Given the description of an element on the screen output the (x, y) to click on. 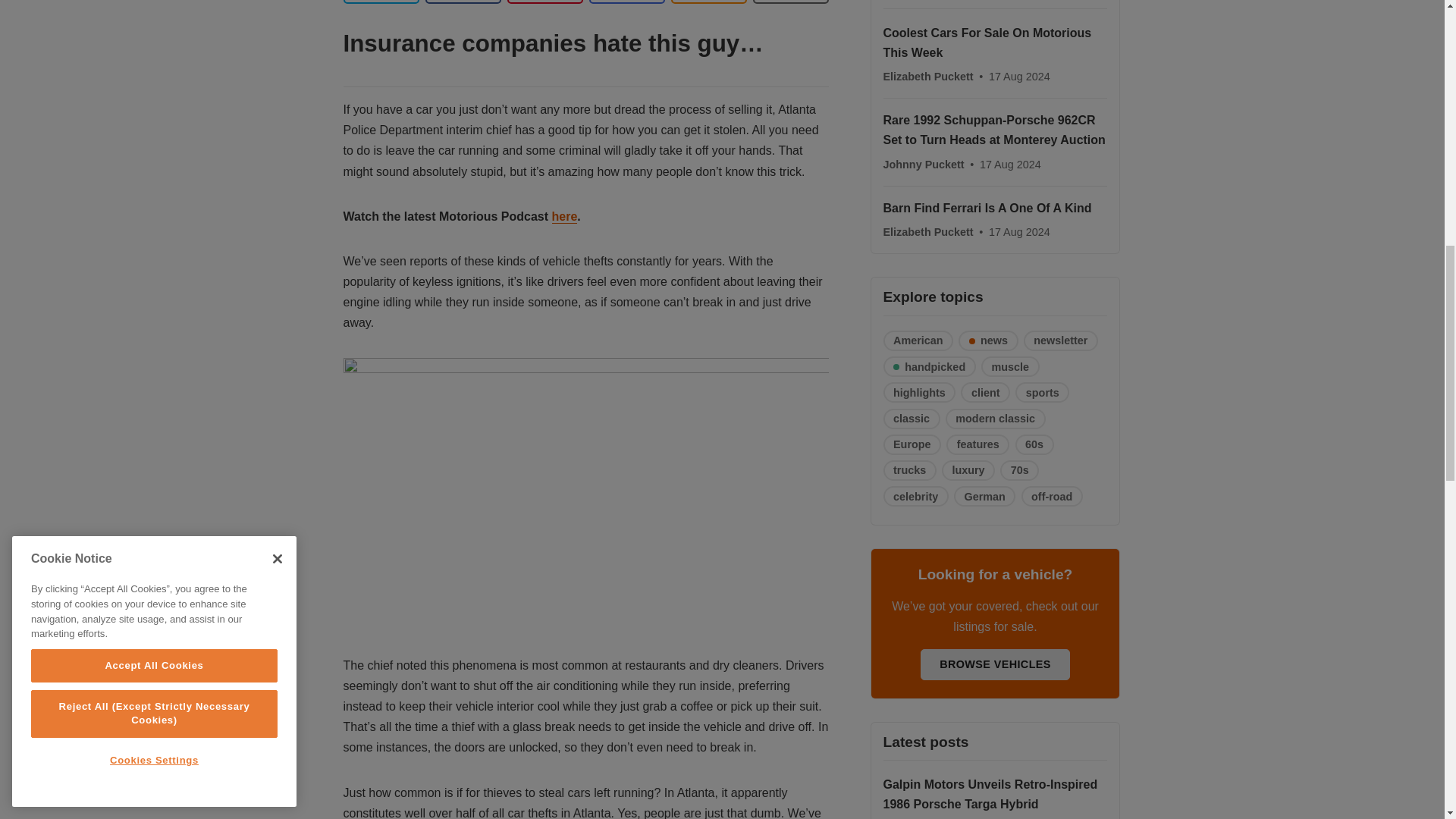
Copy to clipboard (707, 1)
American (917, 340)
Coolest Cars For Sale On Motorious This Week (986, 42)
Share on Facebook (462, 1)
here (564, 216)
Elizabeth Puckett (928, 76)
Elizabeth Puckett (928, 76)
Share on Twitter (380, 1)
Share on Linkedin (544, 1)
Elizabeth Puckett (928, 232)
